Given the description of an element on the screen output the (x, y) to click on. 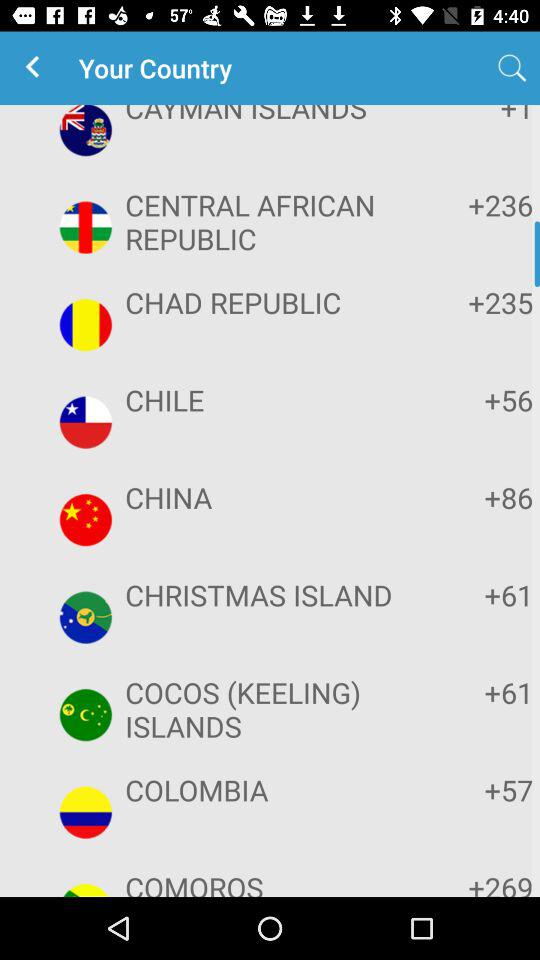
launch app above the central african republic (471, 115)
